Given the description of an element on the screen output the (x, y) to click on. 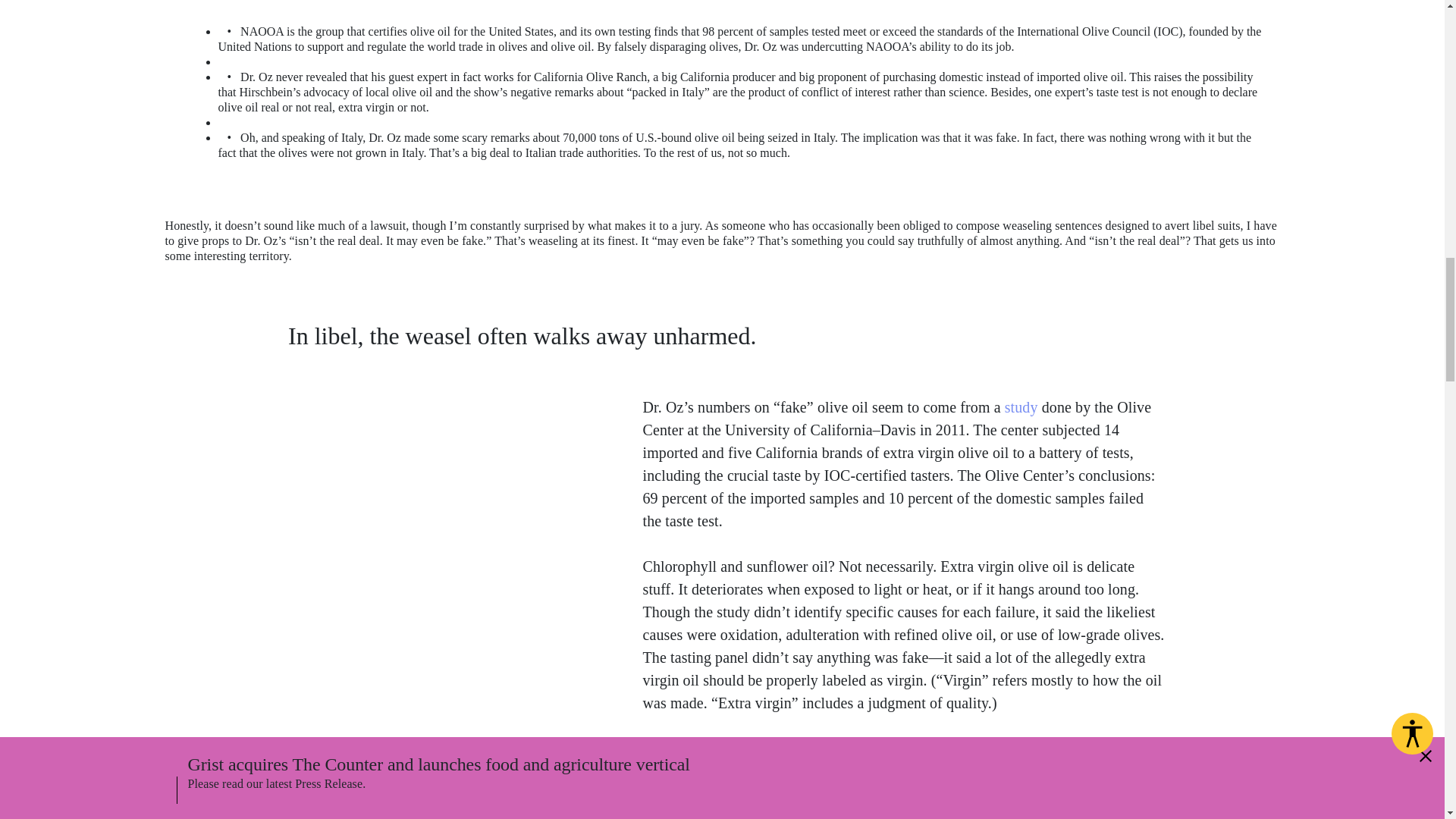
study (1021, 406)
